Given the description of an element on the screen output the (x, y) to click on. 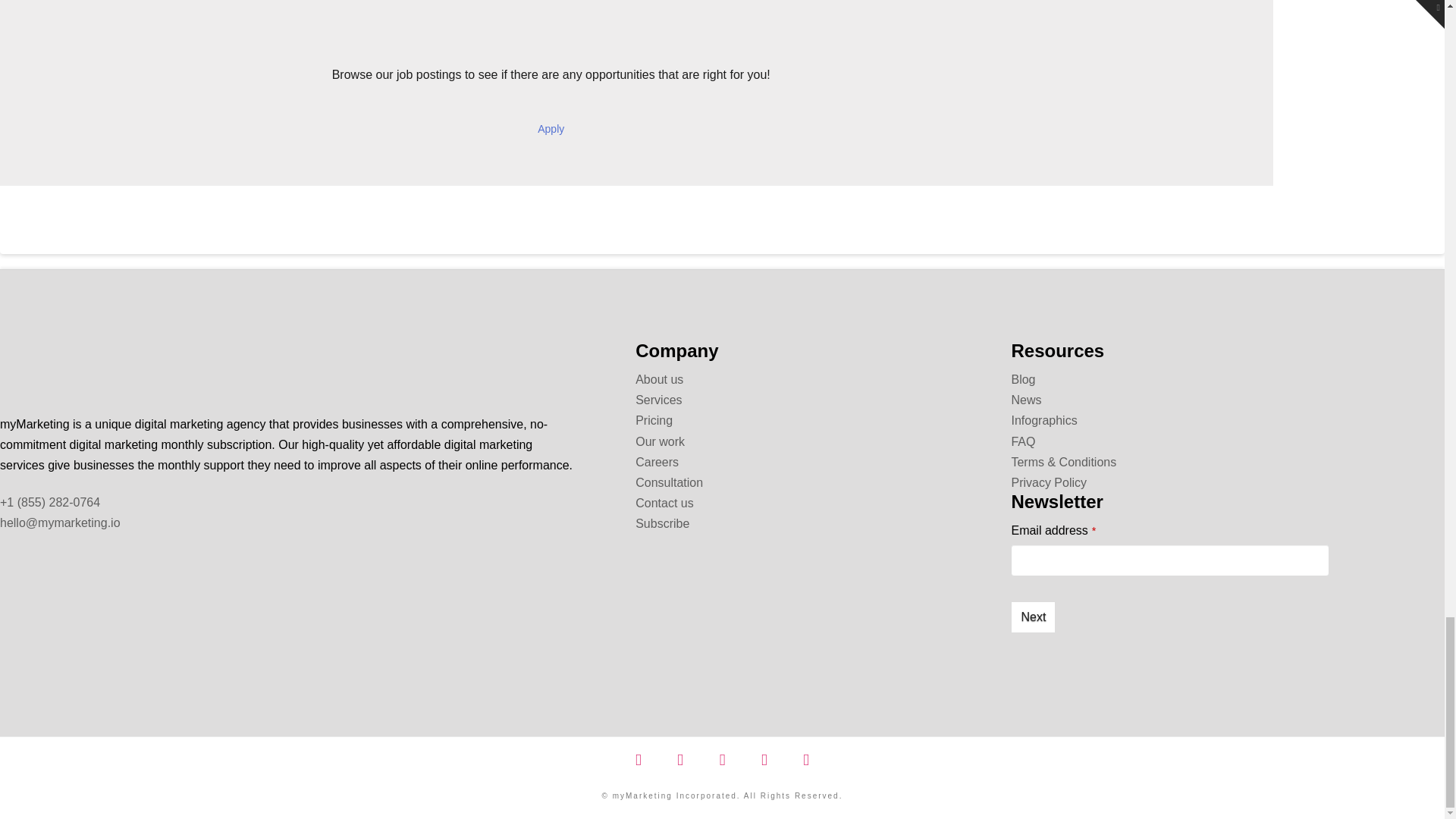
Services (657, 399)
About us (658, 379)
Pricing (653, 420)
Our work (659, 440)
Consultation (668, 481)
Careers (656, 461)
Subscribe (661, 522)
Apply (550, 128)
Contact us (663, 502)
Careers (550, 128)
